Given the description of an element on the screen output the (x, y) to click on. 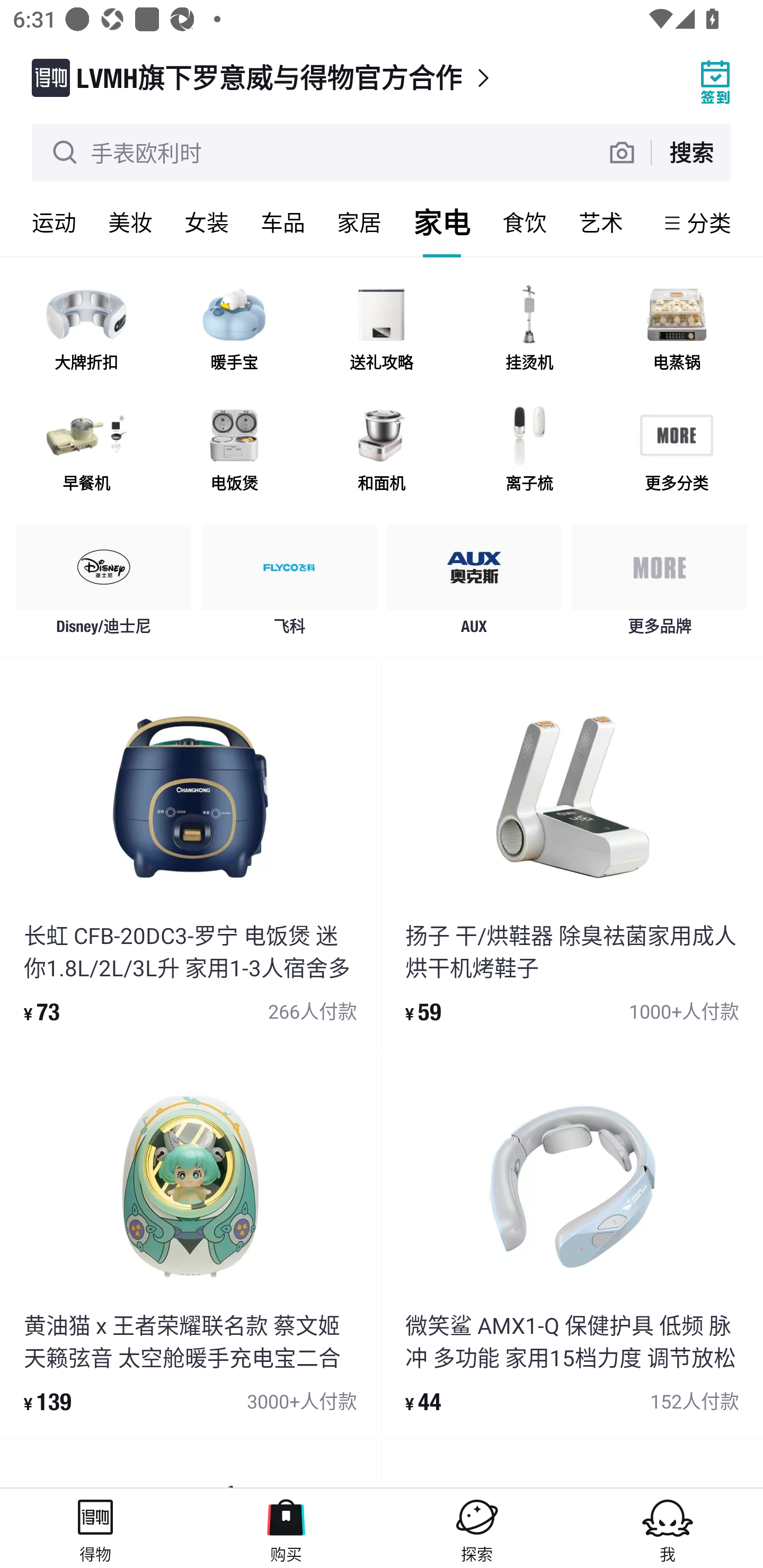
搜索 (690, 152)
运动 (54, 222)
美妆 (130, 222)
女装 (206, 222)
车品 (282, 222)
家居 (359, 222)
家电 (441, 222)
食饮 (524, 222)
艺术 (601, 222)
分类 (708, 222)
大牌折扣 (86, 329)
暖手宝 (233, 329)
送礼攻略 (381, 329)
挂烫机 (528, 329)
电蒸锅 (676, 329)
早餐机 (86, 450)
电饭煲 (233, 450)
和面机 (381, 450)
离子梳 (528, 450)
更多分类 (676, 450)
Disney/迪士尼 (103, 583)
飞科 (288, 583)
AUX (473, 583)
更多品牌 (658, 583)
得物 (95, 1528)
购买 (285, 1528)
探索 (476, 1528)
我 (667, 1528)
